Given the description of an element on the screen output the (x, y) to click on. 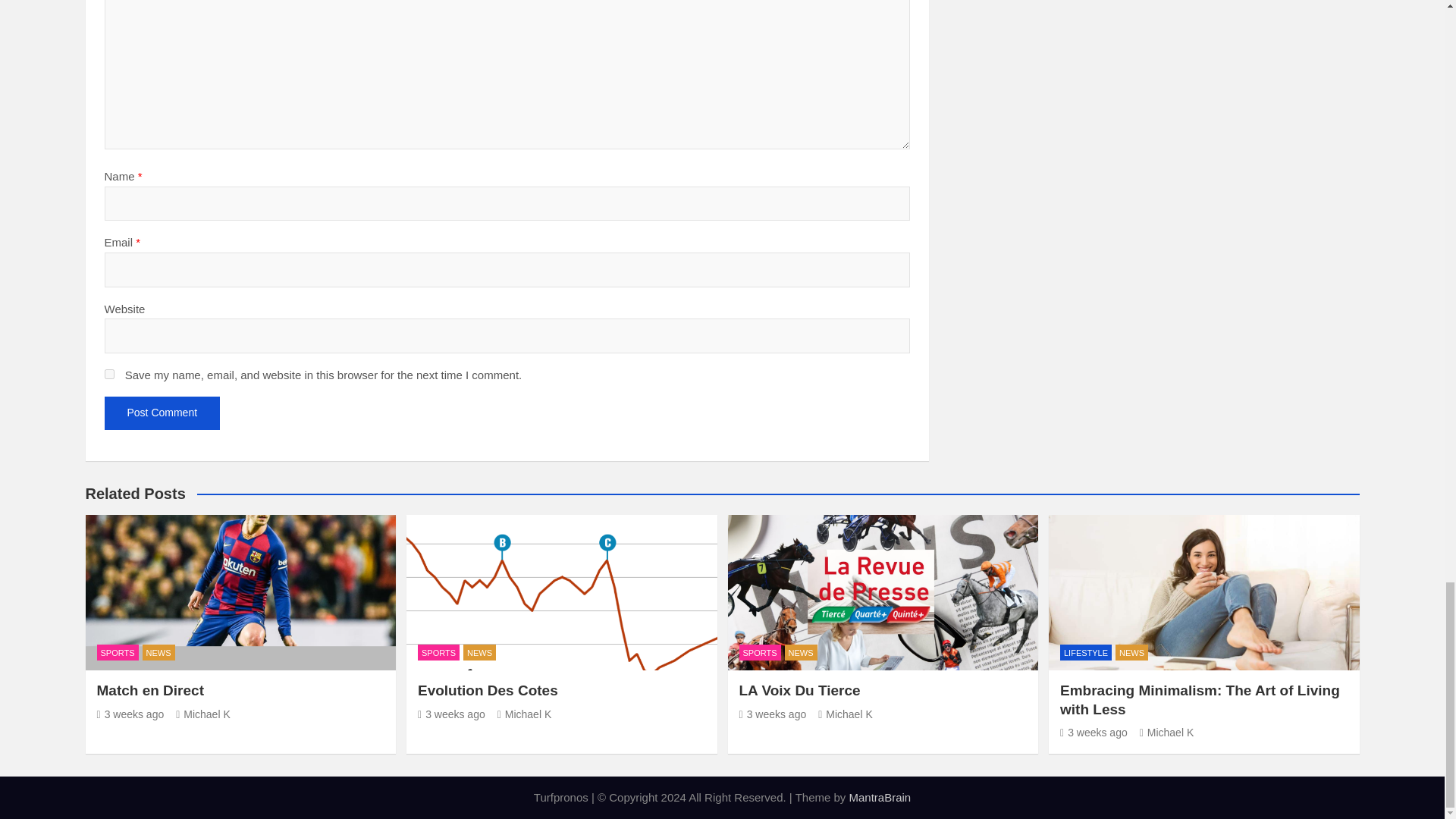
yes (109, 374)
Post Comment (162, 412)
LA Voix Du Tierce (772, 714)
Match en Direct (130, 714)
MantraBrain (879, 797)
Embracing Minimalism: The Art of Living with Less (1092, 732)
Evolution Des Cotes (450, 714)
